Given the description of an element on the screen output the (x, y) to click on. 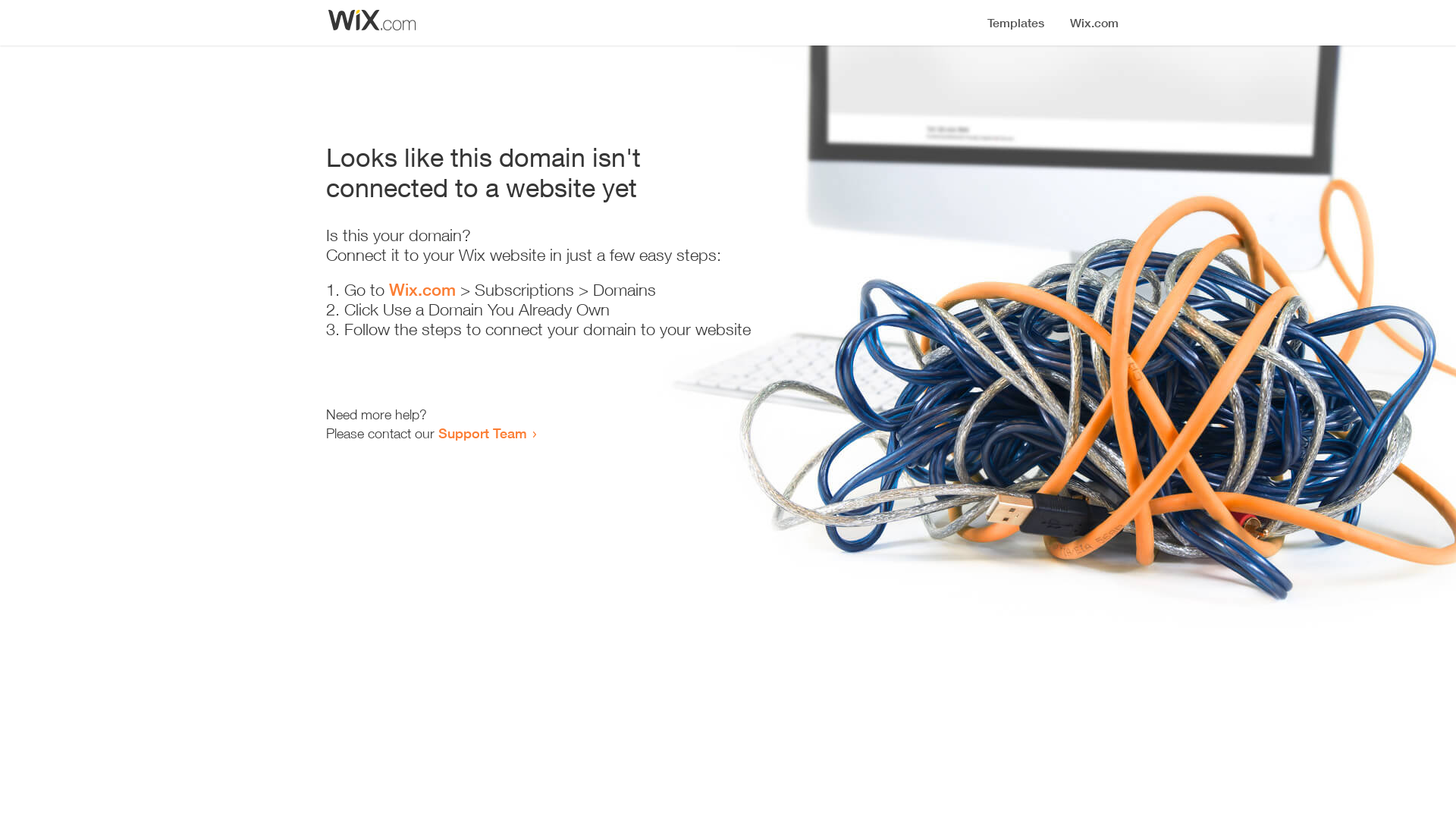
Support Team Element type: text (482, 432)
Wix.com Element type: text (422, 289)
